Given the description of an element on the screen output the (x, y) to click on. 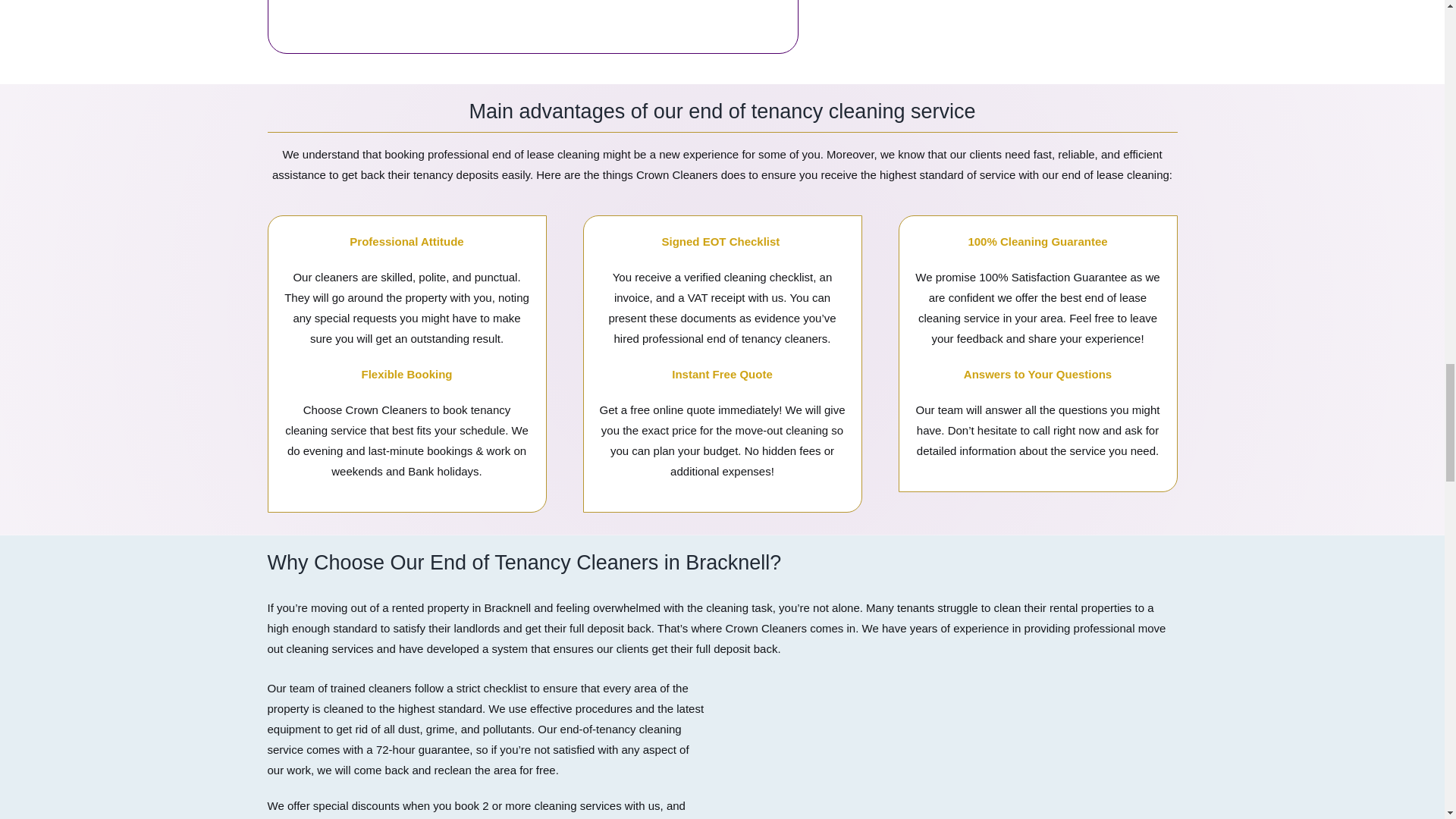
sofa-cleaning-crowncleaners-homepage (957, 752)
